Given the description of an element on the screen output the (x, y) to click on. 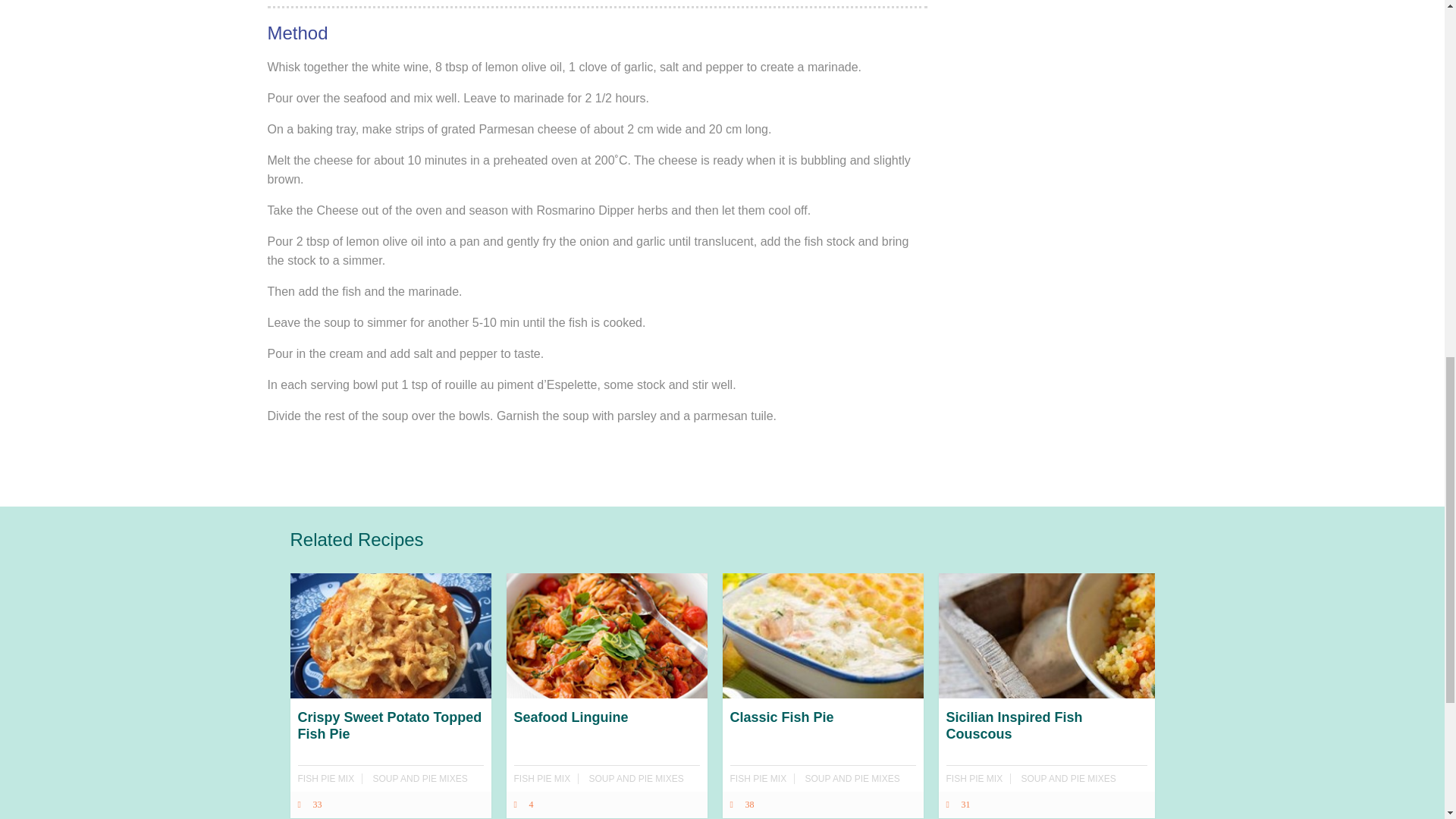
See more Soup and Pie mixes recipes (1069, 778)
See more Soup and Pie mixes recipes (419, 778)
See more Soup and Pie mixes recipes (636, 778)
See more Fish pie mix recipes (757, 778)
SOUP AND PIE MIXES (419, 778)
Crispy Sweet Potato Topped Fish Pie (389, 752)
FISH PIE MIX (541, 778)
SOUP AND PIE MIXES (636, 778)
See more Fish pie mix recipes (974, 778)
SOUP AND PIE MIXES (852, 778)
